Given the description of an element on the screen output the (x, y) to click on. 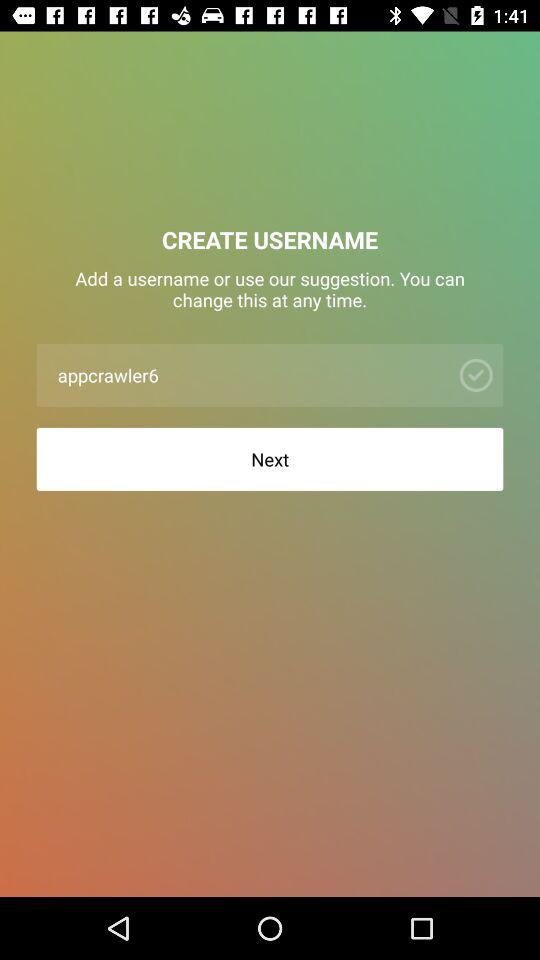
scroll to next (269, 458)
